Given the description of an element on the screen output the (x, y) to click on. 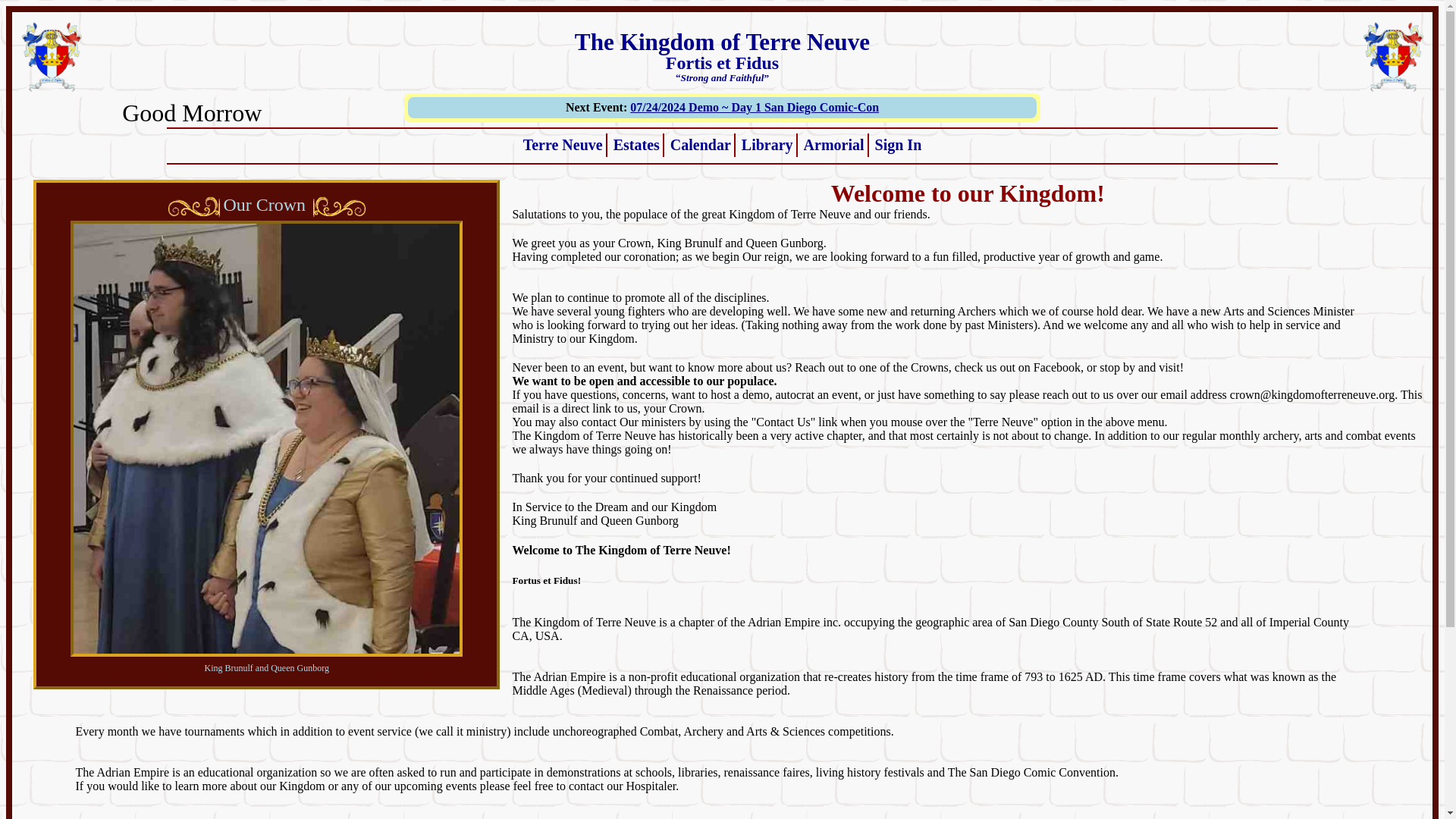
The Crown of Terre Neuve (195, 206)
Armorial (833, 144)
Library (767, 144)
Terre Neuve (562, 144)
The Crown of Terre Neuve (338, 206)
Calendar (699, 144)
Estates (635, 144)
Sign In (898, 144)
